Given the description of an element on the screen output the (x, y) to click on. 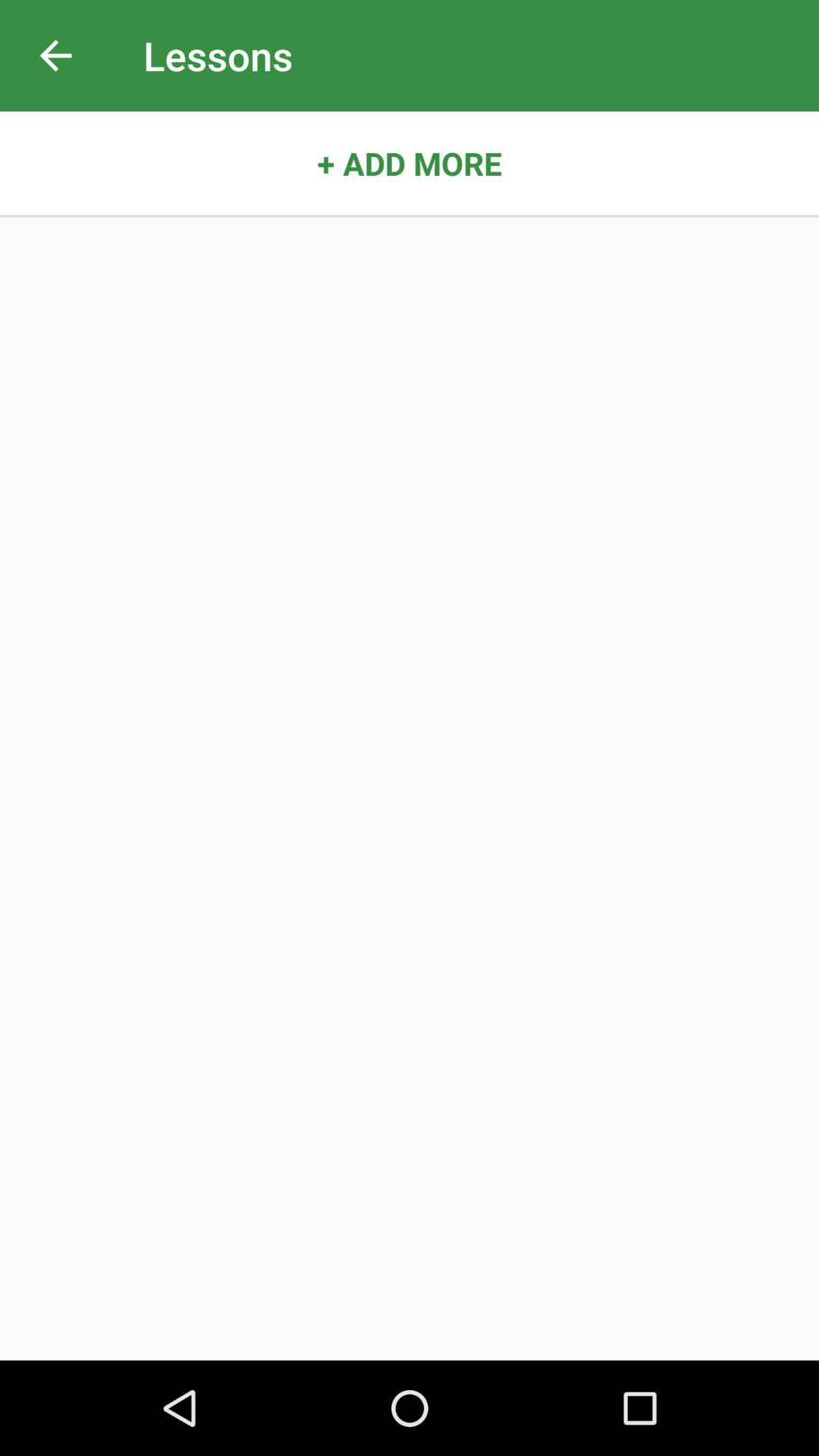
press the icon to the left of the lessons item (55, 55)
